Given the description of an element on the screen output the (x, y) to click on. 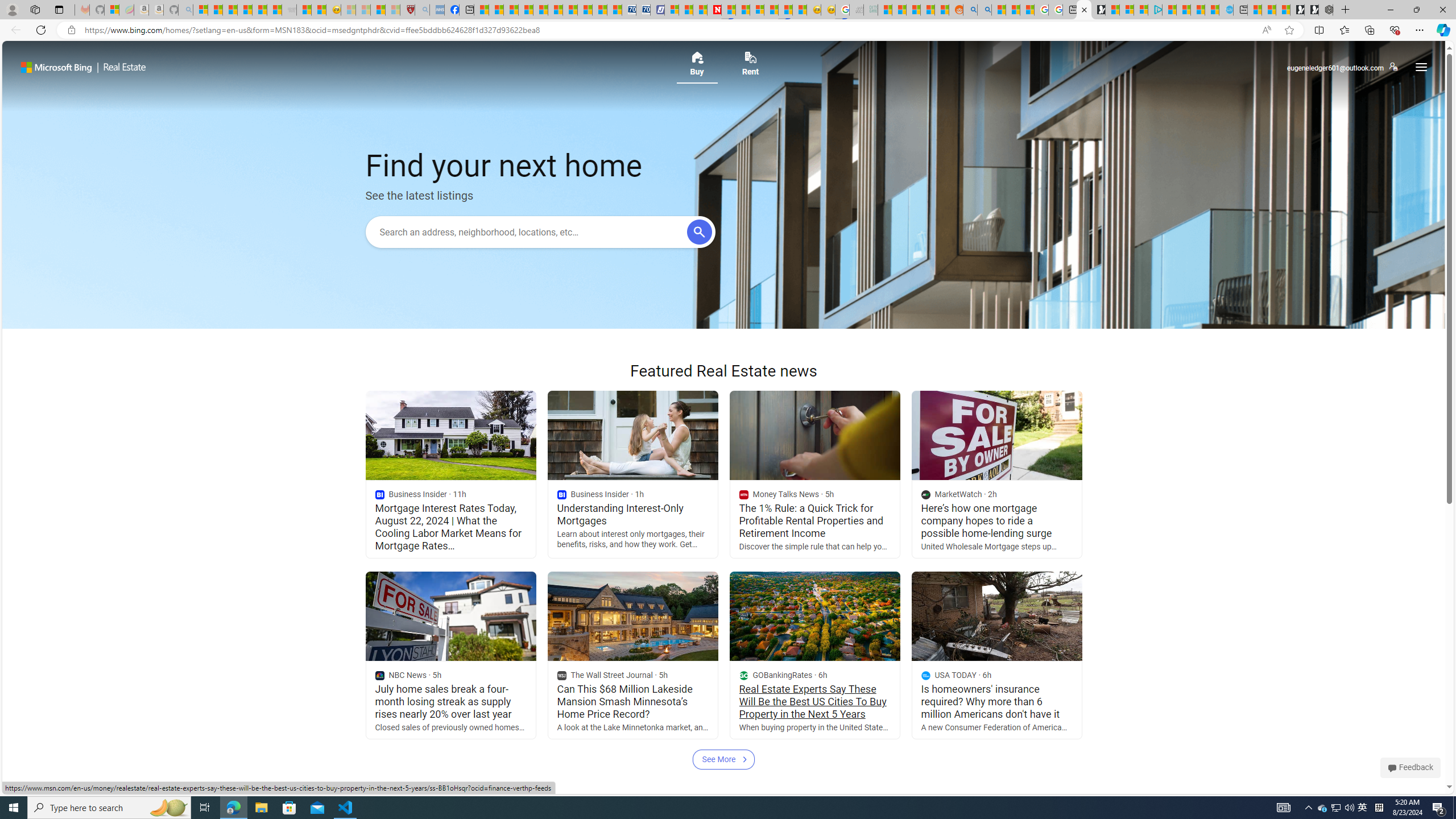
hamburger button  (1420, 67)
Science - MSN (377, 9)
